Given the description of an element on the screen output the (x, y) to click on. 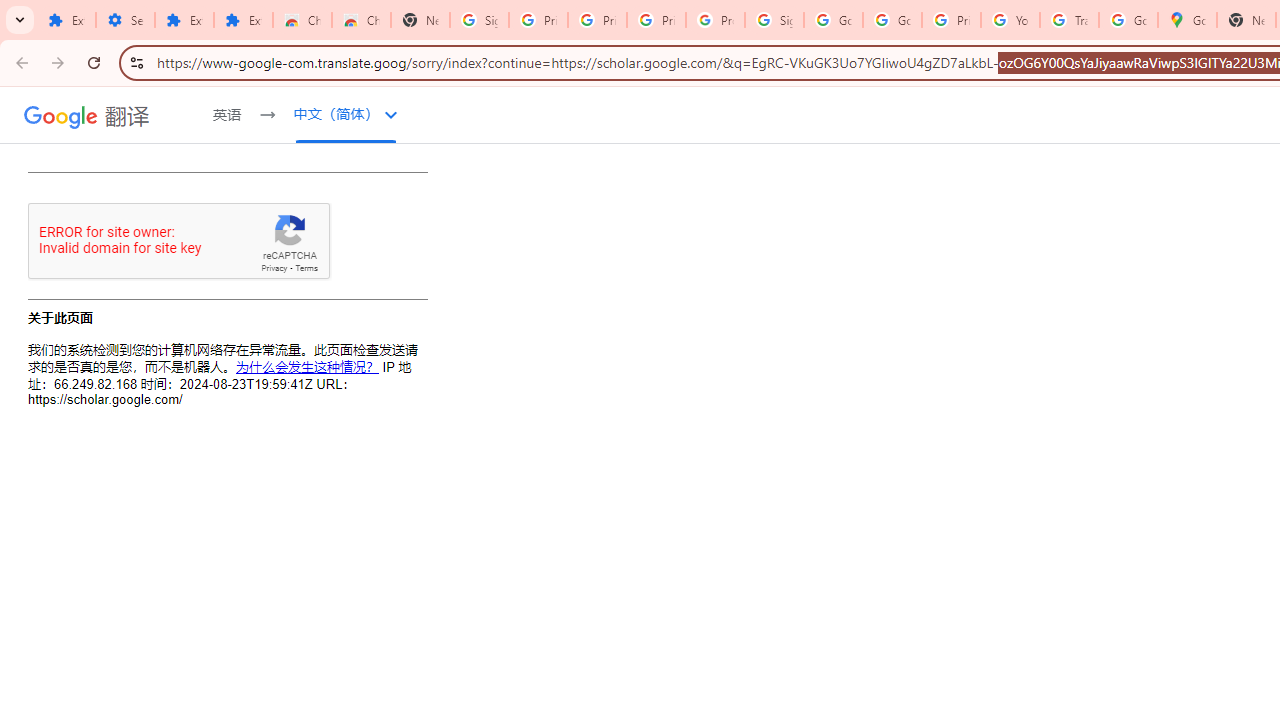
Sign in - Google Accounts (479, 20)
Extensions (183, 20)
Extensions (242, 20)
Chrome Web Store - Themes (360, 20)
